Given the description of an element on the screen output the (x, y) to click on. 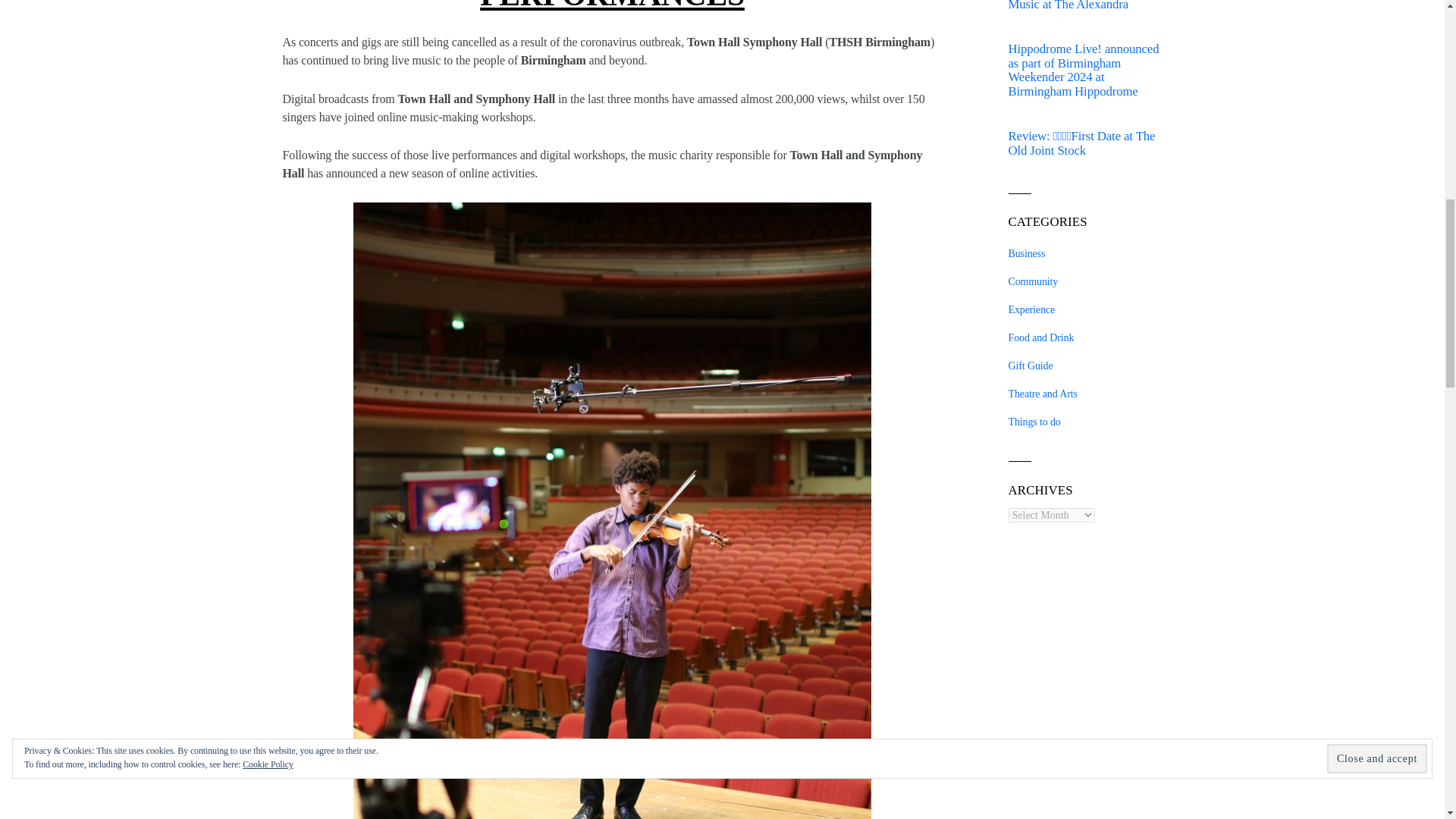
Food and Drink (1041, 337)
Business (1027, 253)
Gift Guide (1030, 365)
Community (1033, 281)
Experience (1032, 309)
